Given the description of an element on the screen output the (x, y) to click on. 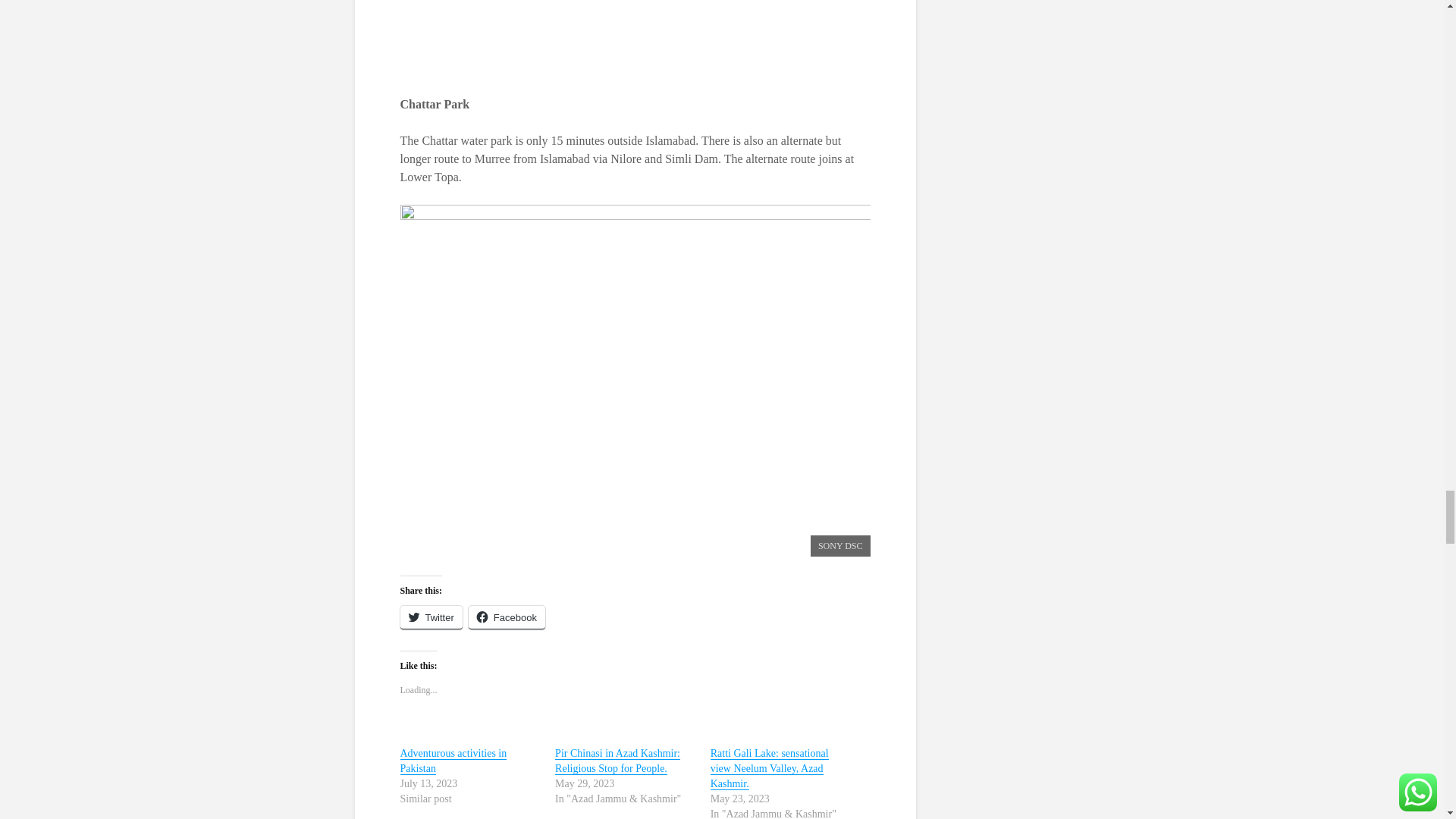
Adventurous activities in Pakistan (453, 760)
Chattar Park (635, 38)
Click to share on Twitter (431, 617)
Click to share on Facebook (506, 617)
Pir Chinasi in Azad Kashmir: Religious Stop for People. (616, 760)
